Given the description of an element on the screen output the (x, y) to click on. 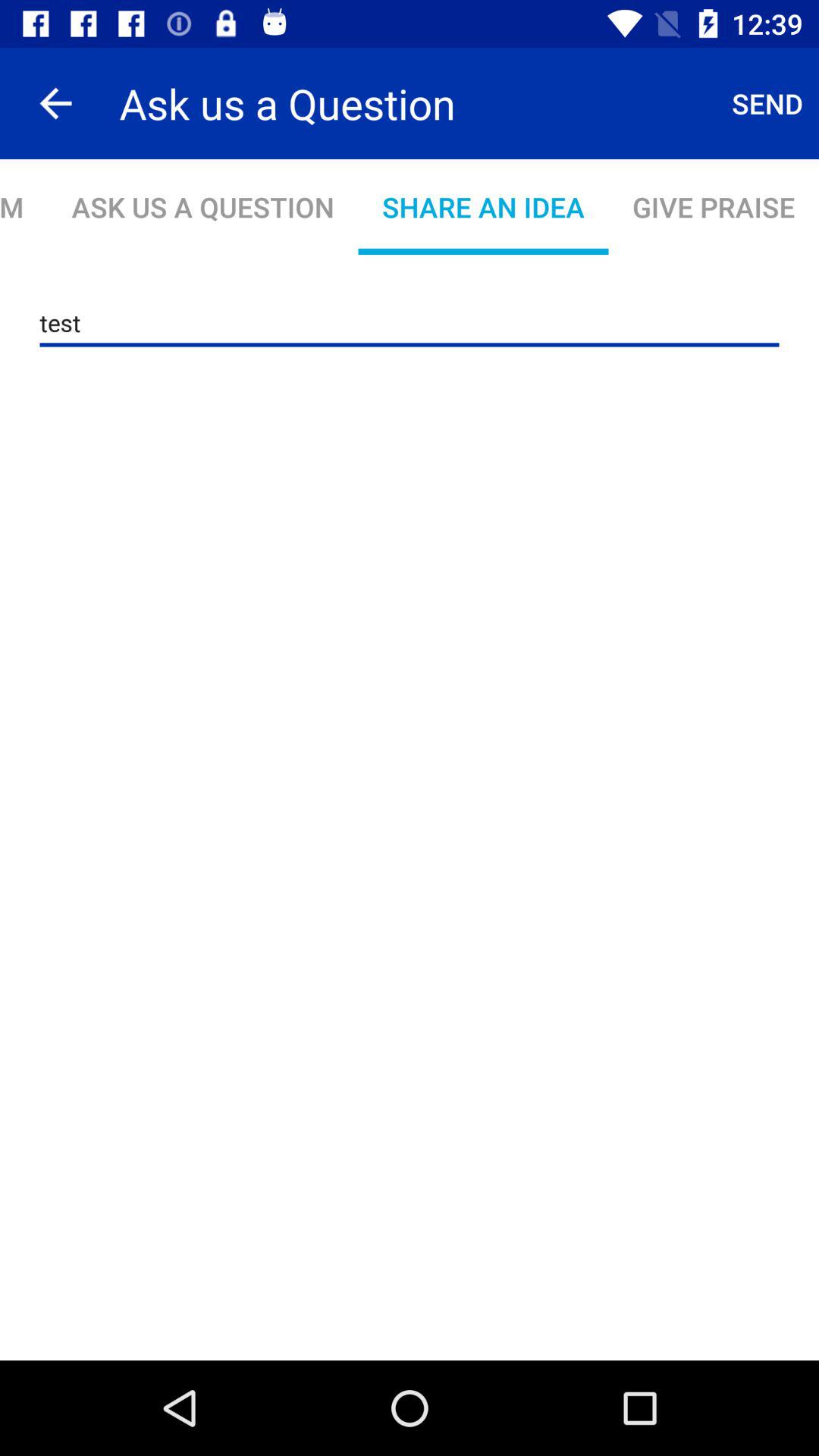
open icon above report a problem (55, 103)
